Given the description of an element on the screen output the (x, y) to click on. 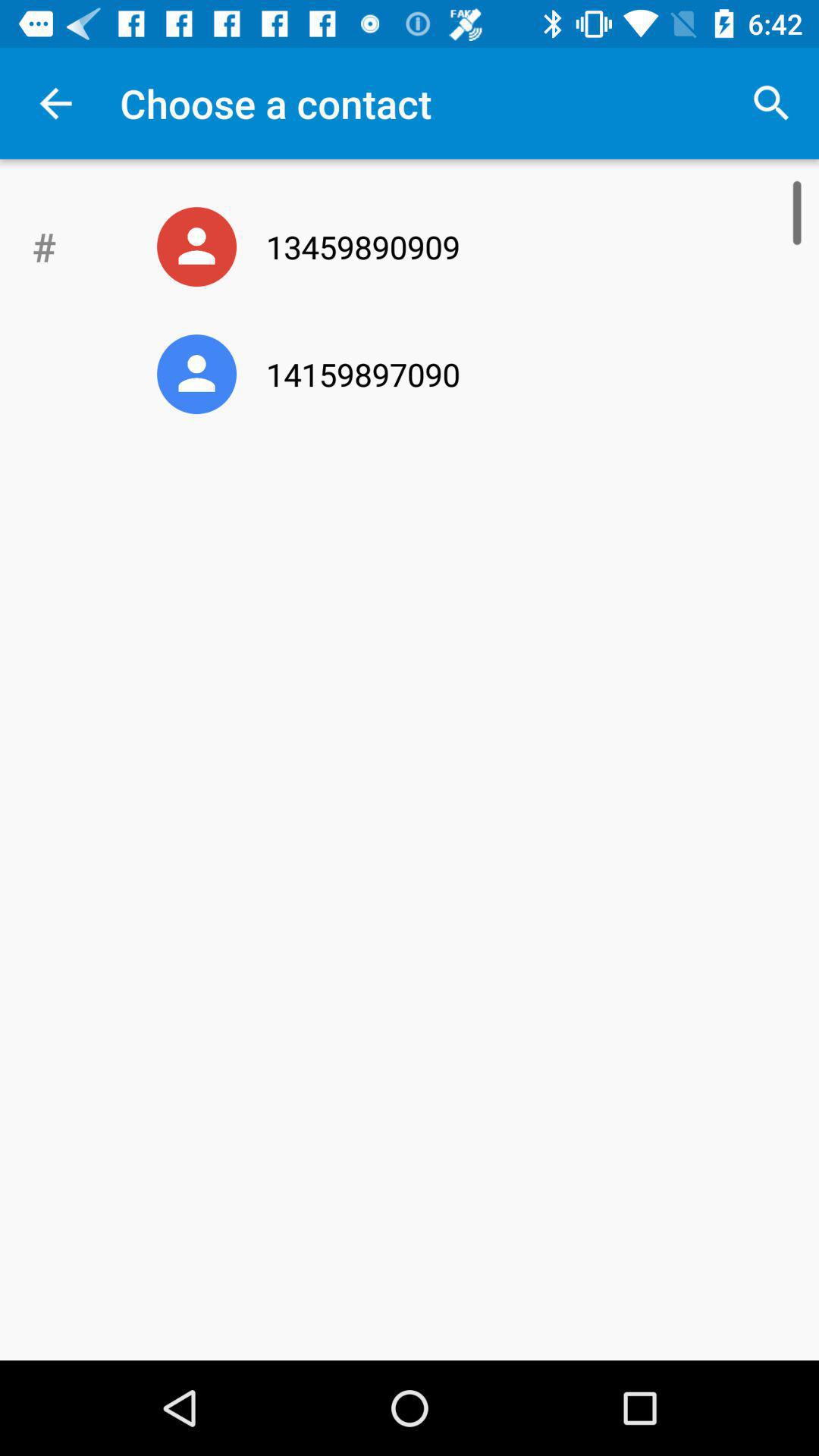
choose the item above 13459890909 icon (771, 103)
